Given the description of an element on the screen output the (x, y) to click on. 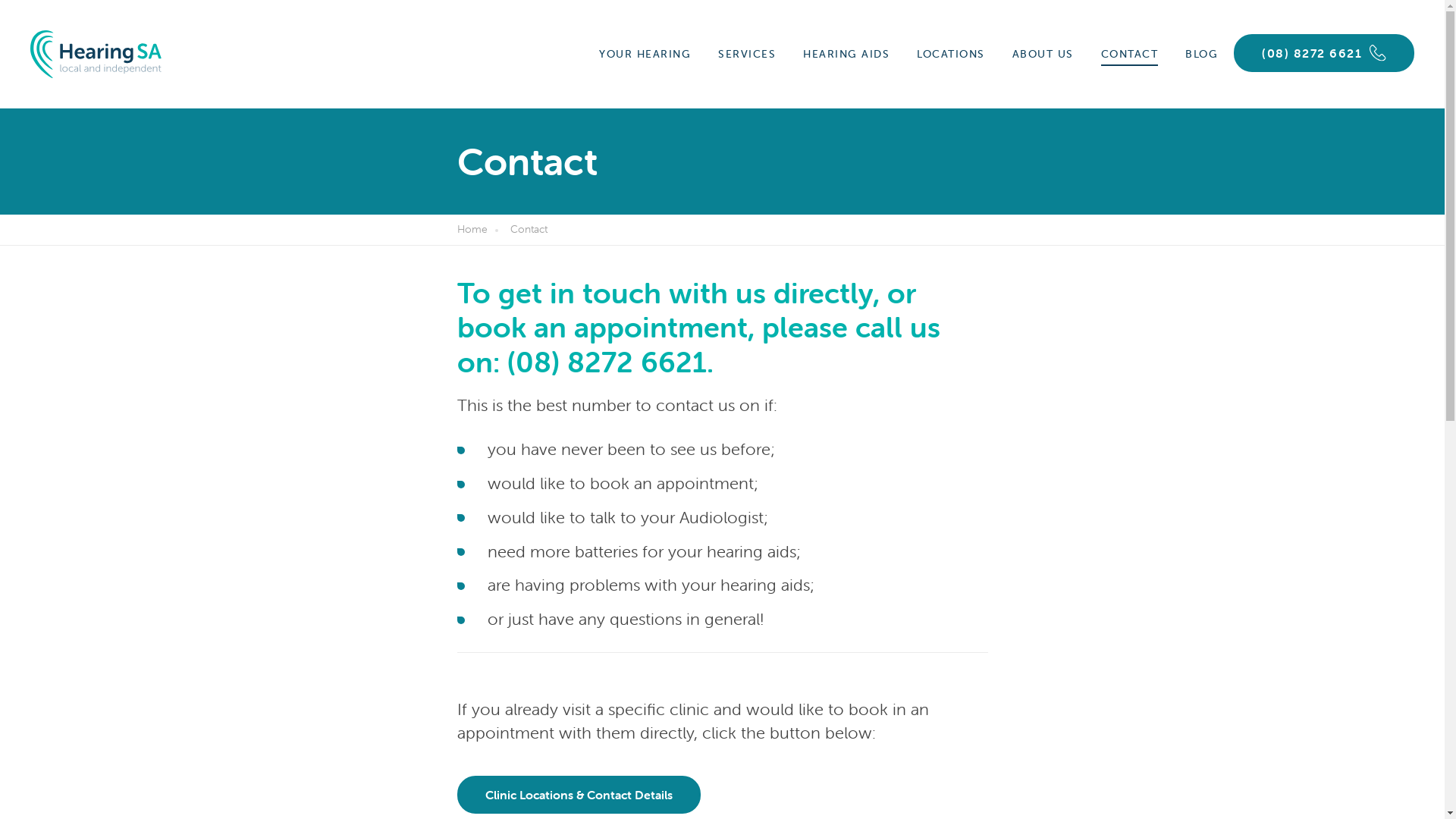
CONTACT Element type: text (1129, 54)
Clinic Locations & Contact Details Element type: text (577, 794)
YOUR HEARING Element type: text (644, 54)
ABOUT US Element type: text (1043, 54)
SERVICES Element type: text (746, 54)
HEARING AIDS Element type: text (845, 54)
(08) 8272 6621 Element type: text (1323, 53)
Contact Element type: text (531, 229)
Home Element type: text (480, 229)
LOCATIONS Element type: text (950, 54)
BLOG Element type: text (1201, 54)
